Given the description of an element on the screen output the (x, y) to click on. 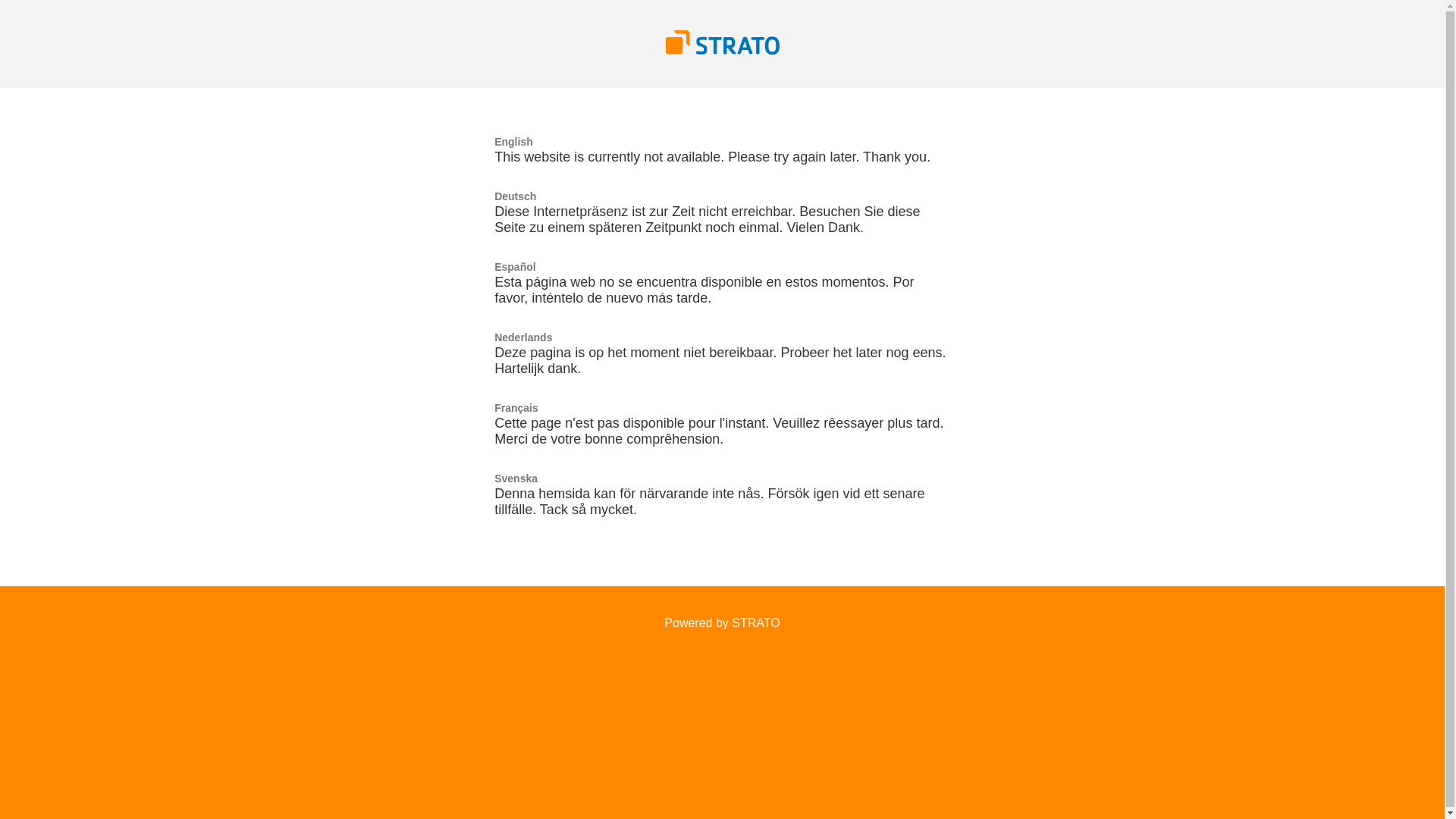
Powered by STRATO Element type: text (721, 622)
